Given the description of an element on the screen output the (x, y) to click on. 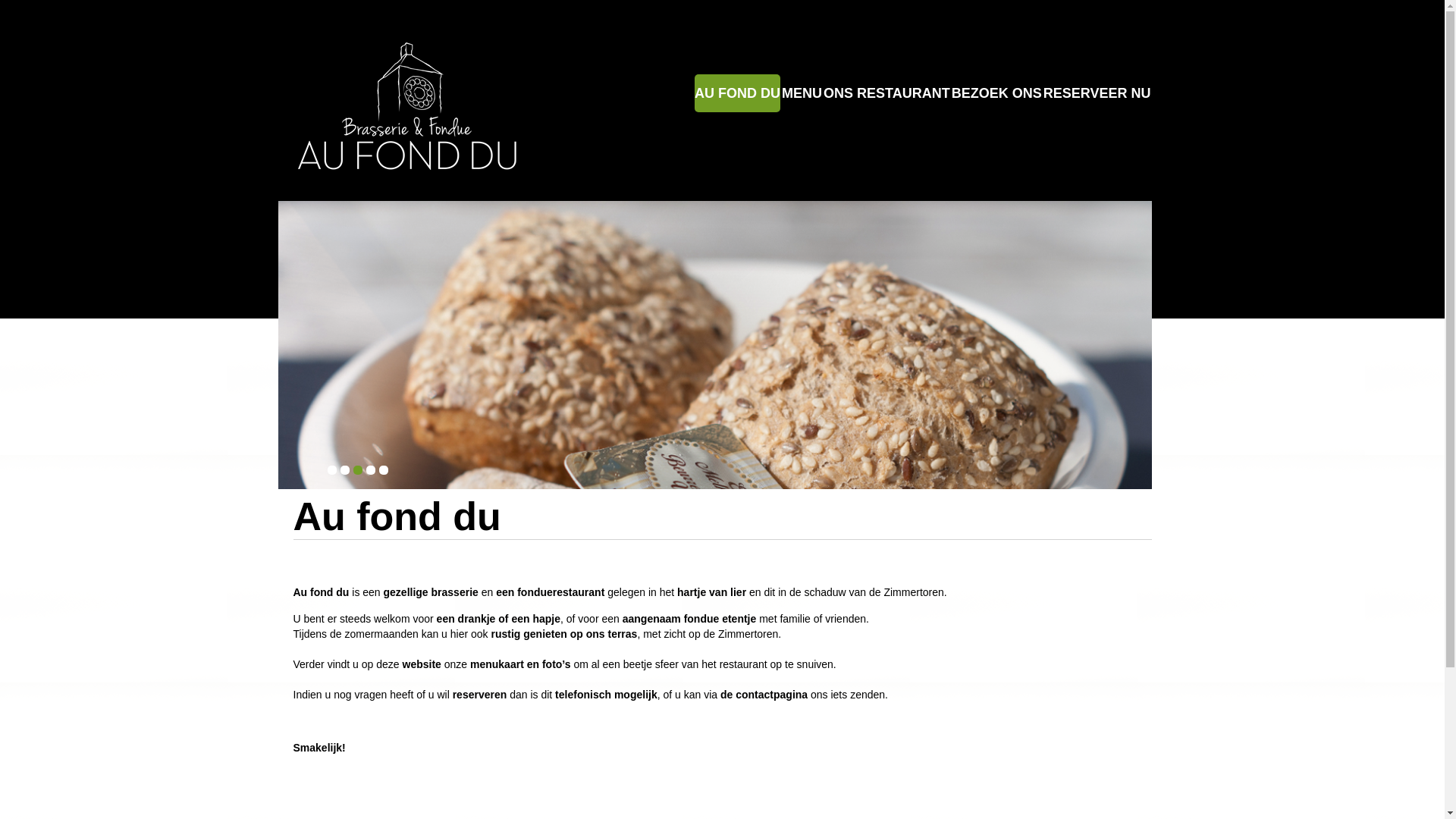
MENU Element type: text (801, 92)
ONS RESTAURANT Element type: text (886, 92)
AU FOND DU Element type: text (737, 92)
RESERVEER NU Element type: text (1097, 92)
BEZOEK ONS Element type: text (996, 92)
